Given the description of an element on the screen output the (x, y) to click on. 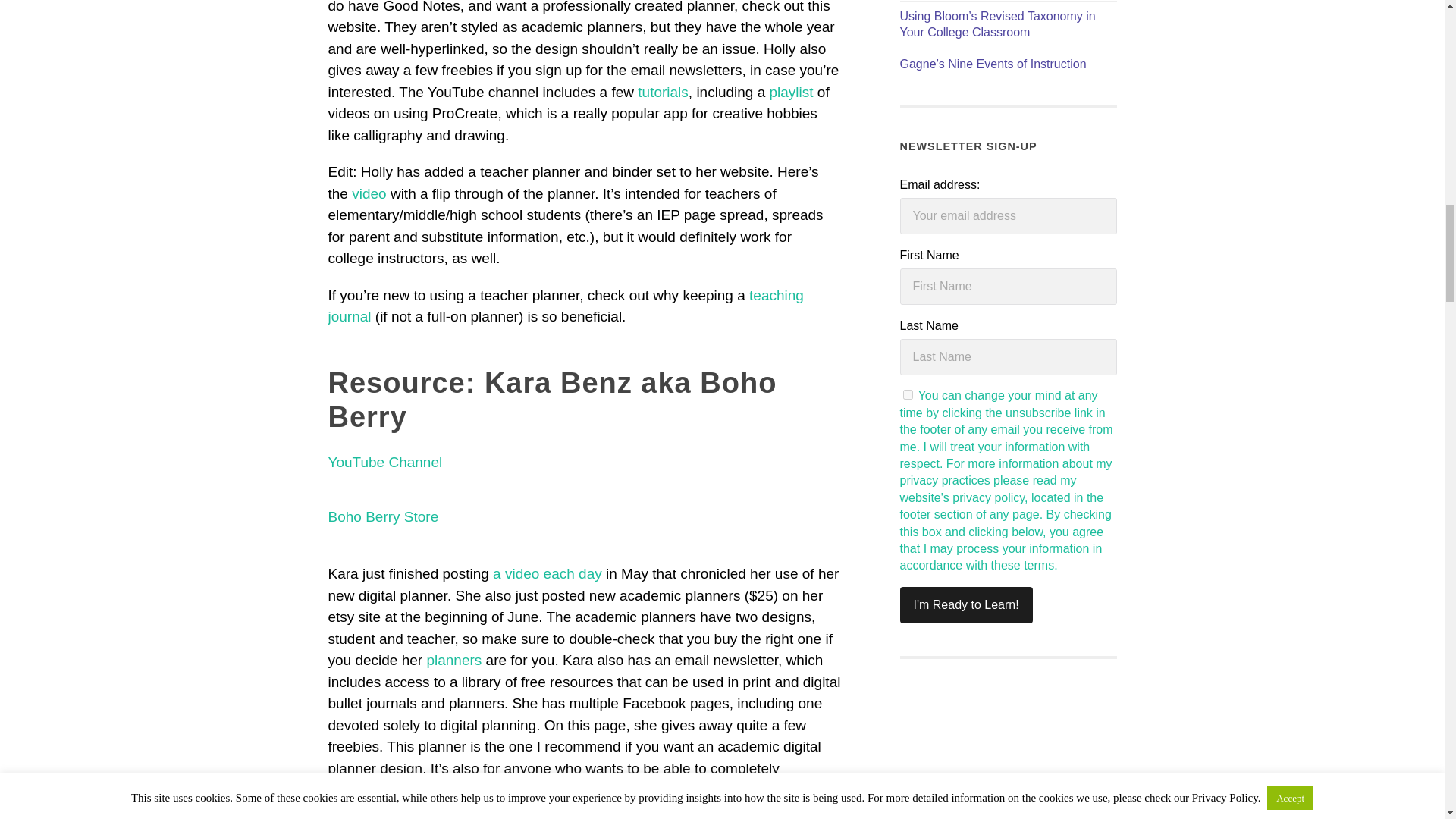
I'm Ready to Learn! (965, 605)
1 (907, 394)
